Given the description of an element on the screen output the (x, y) to click on. 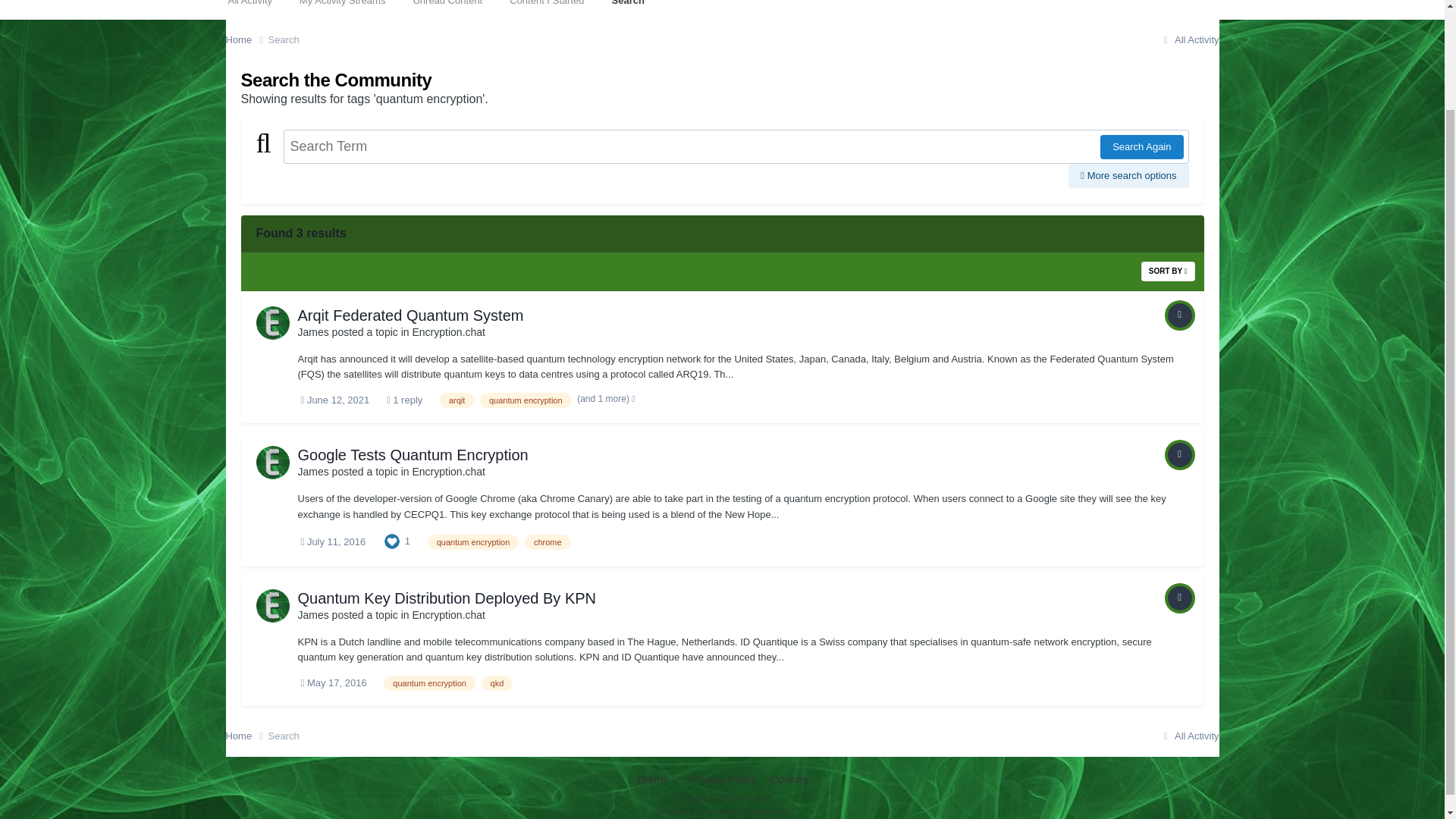
All Activity (249, 9)
My Activity Streams (341, 9)
Topic (1179, 315)
Search (627, 9)
Search (283, 39)
More search options (1128, 175)
Topic (1179, 454)
Go to James's profile (272, 462)
Go to James's profile (313, 331)
Find other content tagged with 'arqit' (456, 400)
Like (391, 541)
Content I Started (546, 9)
Find other content tagged with 'quantum encryption' (473, 541)
Find other content tagged with 'quantum encryption' (526, 400)
Home (246, 39)
